Given the description of an element on the screen output the (x, y) to click on. 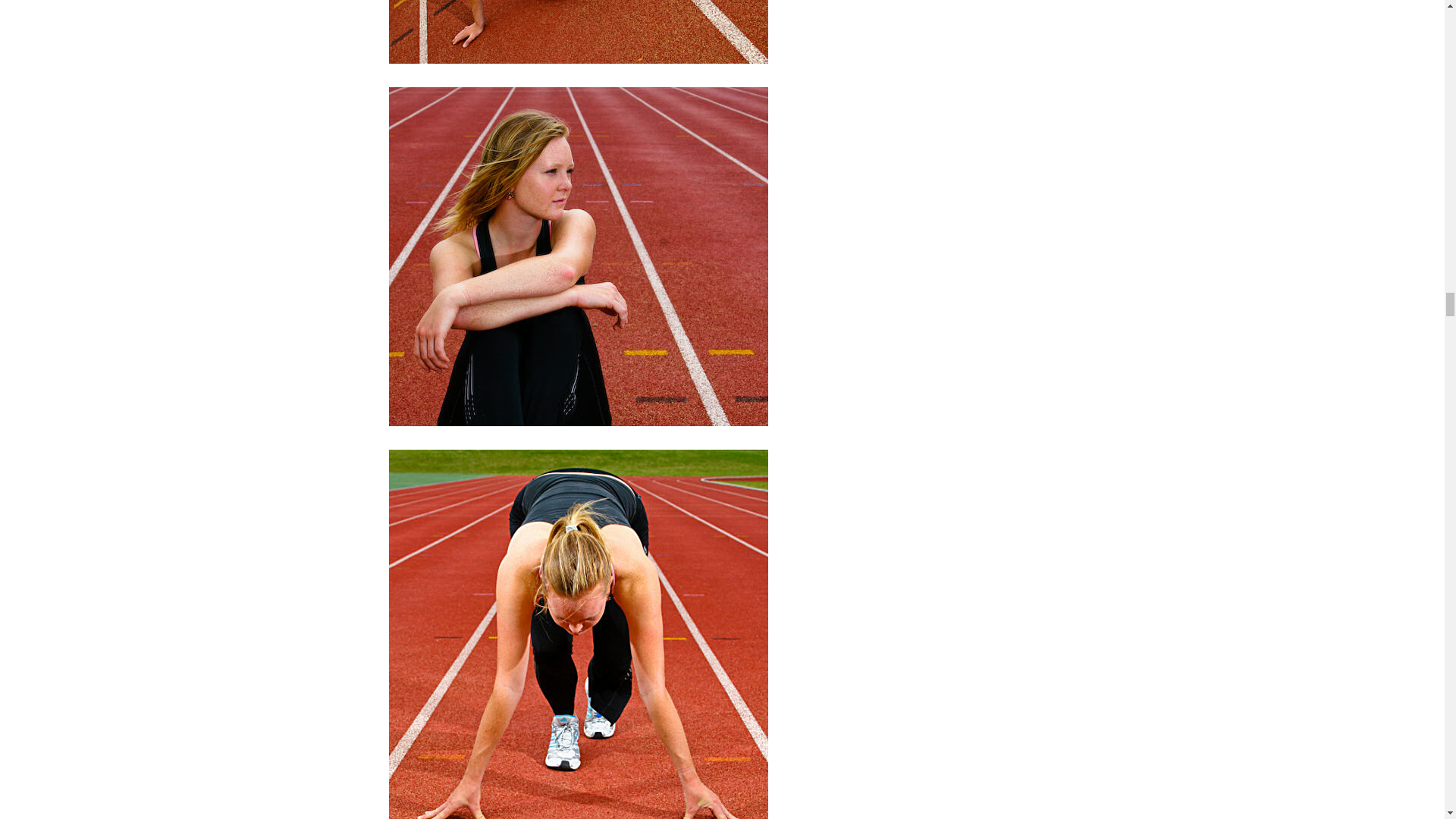
Erica - Sportrait (578, 255)
Erica - Sportrait (578, 31)
